Given the description of an element on the screen output the (x, y) to click on. 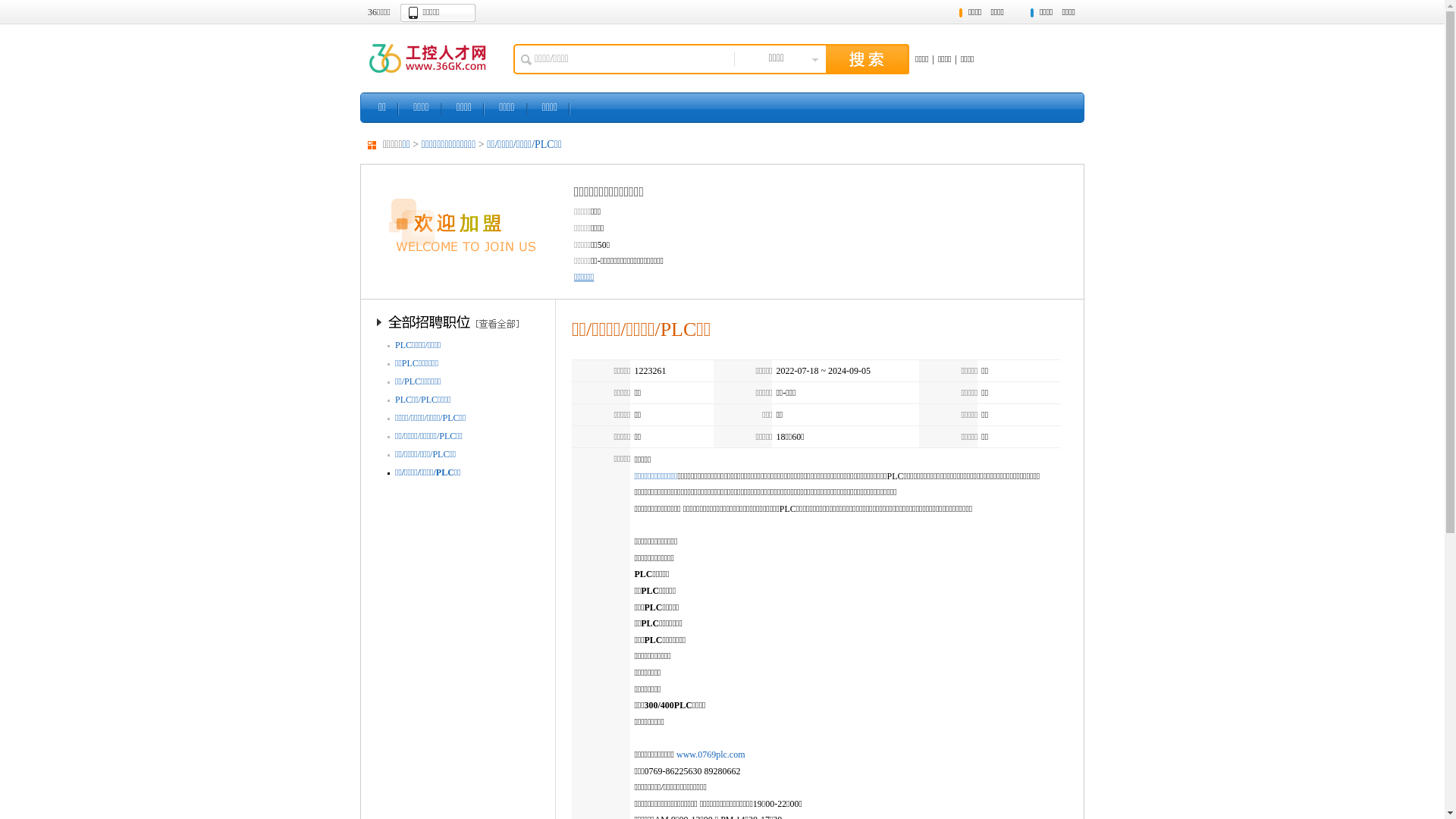
www.0769plc.com Element type: text (710, 754)
